Given the description of an element on the screen output the (x, y) to click on. 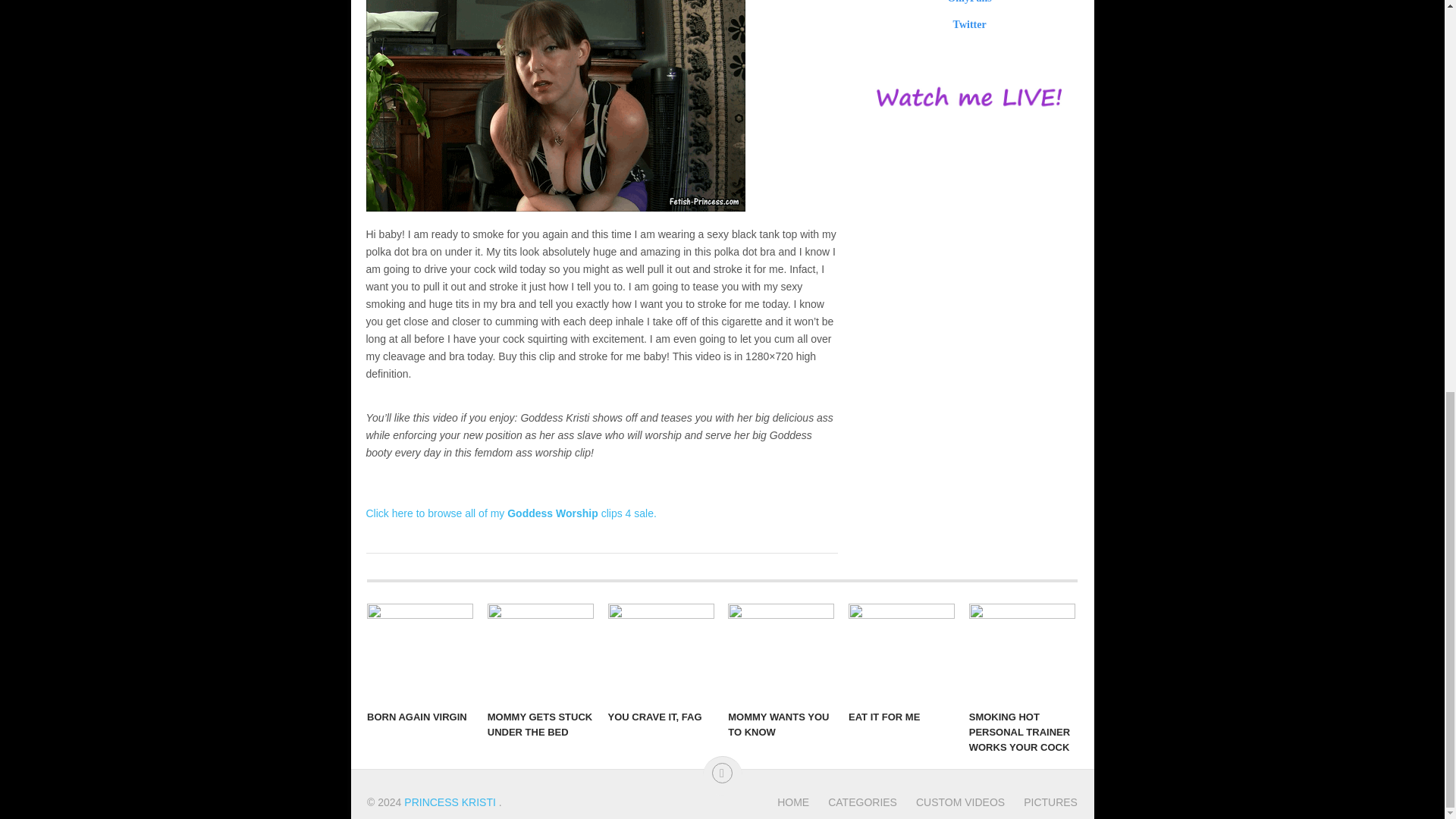
Born Again Virgin (419, 652)
You Crave It, Fag (661, 652)
Mommy Wants You to Know (781, 652)
Mommy Gets Stuck Under the Bed (540, 652)
